Given the description of an element on the screen output the (x, y) to click on. 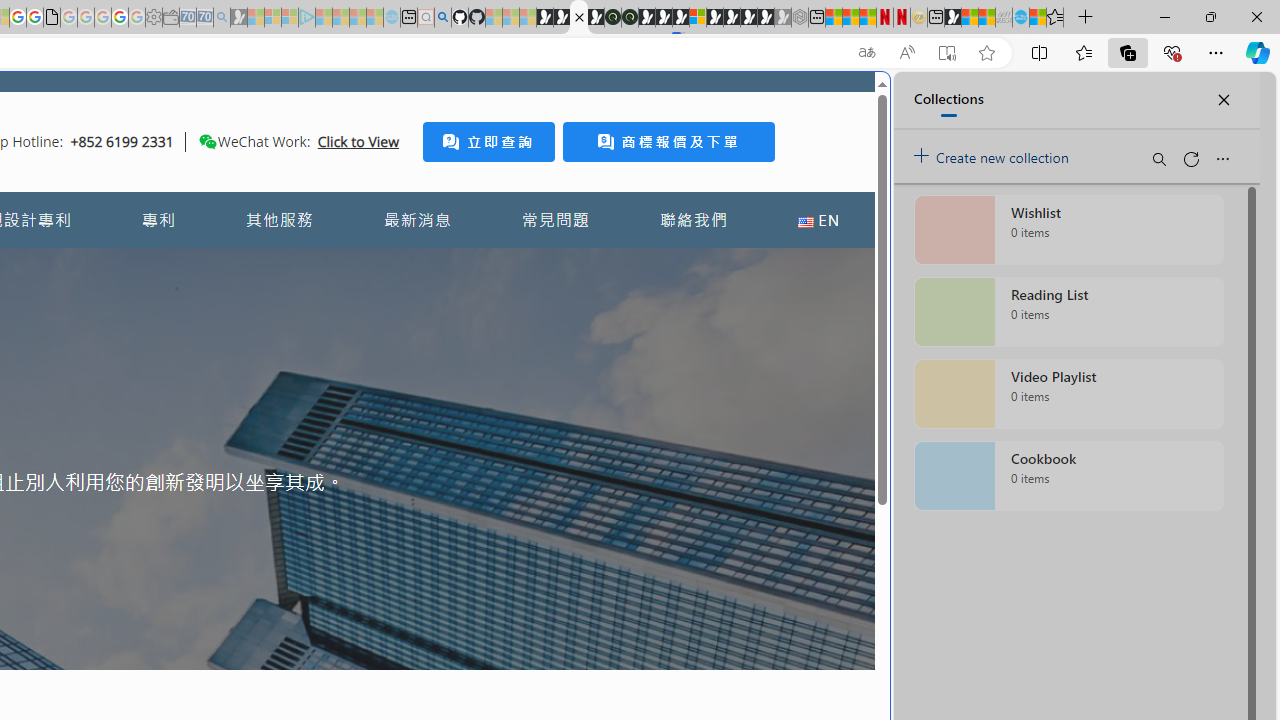
google_privacy_policy_zh-CN.pdf (51, 17)
EN (818, 220)
Tabs you've opened (276, 265)
Wallet - Sleeping (170, 17)
